Given the description of an element on the screen output the (x, y) to click on. 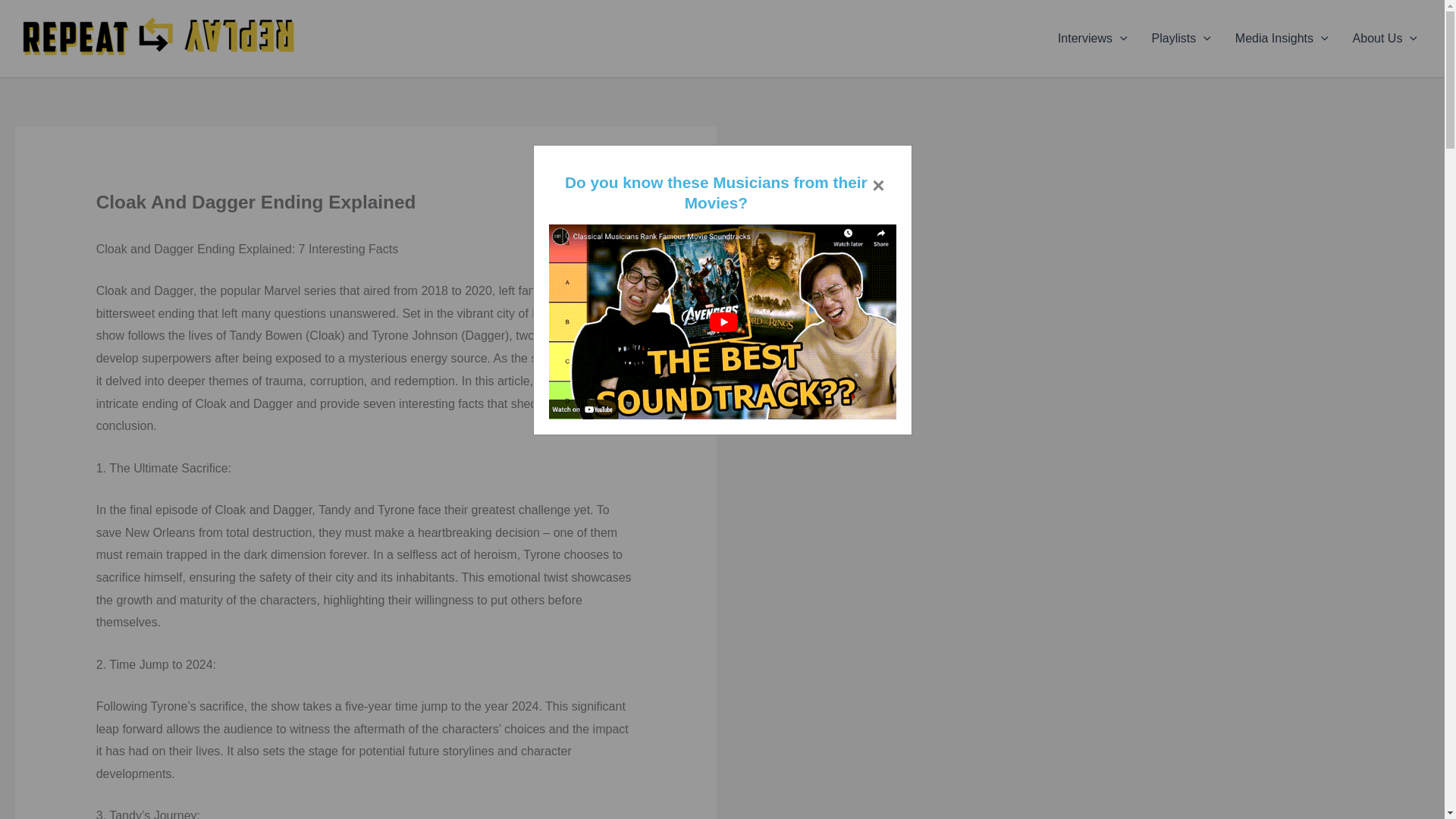
Playlists (1181, 38)
Interviews (1092, 38)
Media Insights (1281, 38)
About Us (1384, 38)
